Given the description of an element on the screen output the (x, y) to click on. 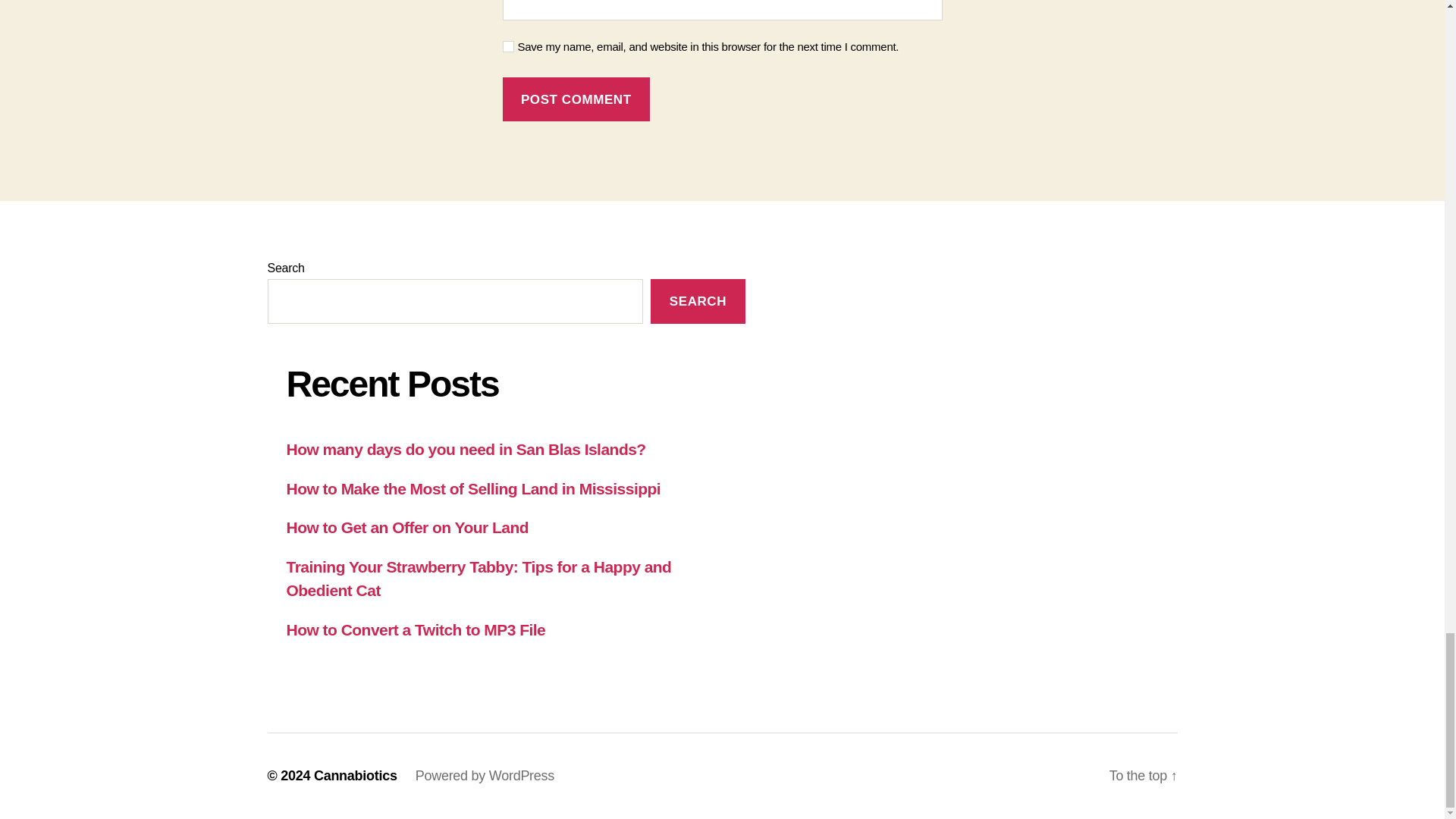
Post Comment (575, 99)
Cannabiotics (355, 775)
How to Convert a Twitch to MP3 File (416, 629)
SEARCH (697, 301)
yes (507, 46)
How to Make the Most of Selling Land in Mississippi (473, 488)
How many days do you need in San Blas Islands? (466, 448)
Powered by WordPress (484, 775)
How to Get an Offer on Your Land (407, 527)
